Given the description of an element on the screen output the (x, y) to click on. 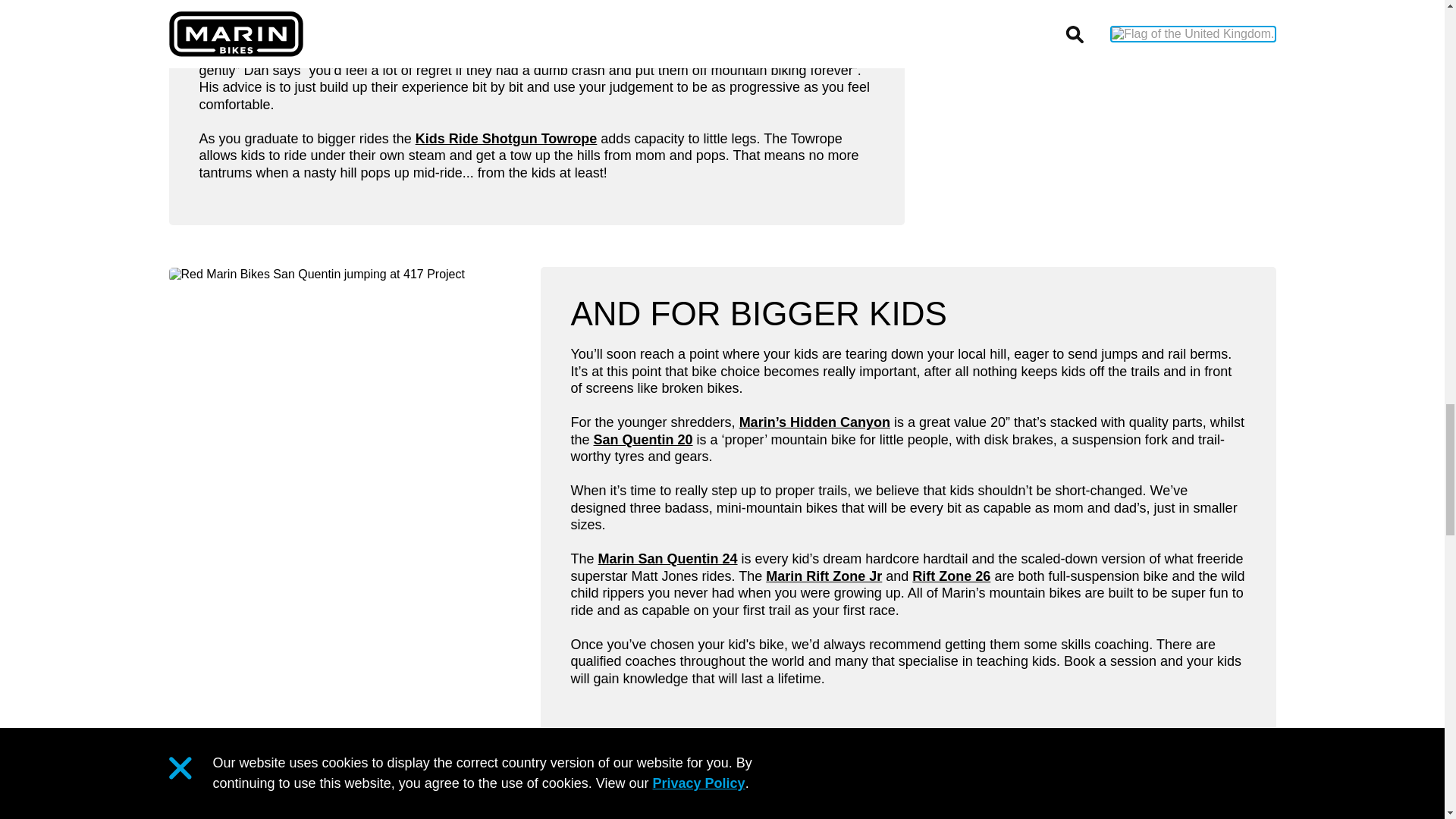
Rift Zone 26 (951, 575)
Marin Rift Zone Jr (823, 575)
Marin San Quentin 24 (668, 558)
San Quentin 20 (643, 439)
Kids Ride Shotgun Towrope (505, 138)
